Given the description of an element on the screen output the (x, y) to click on. 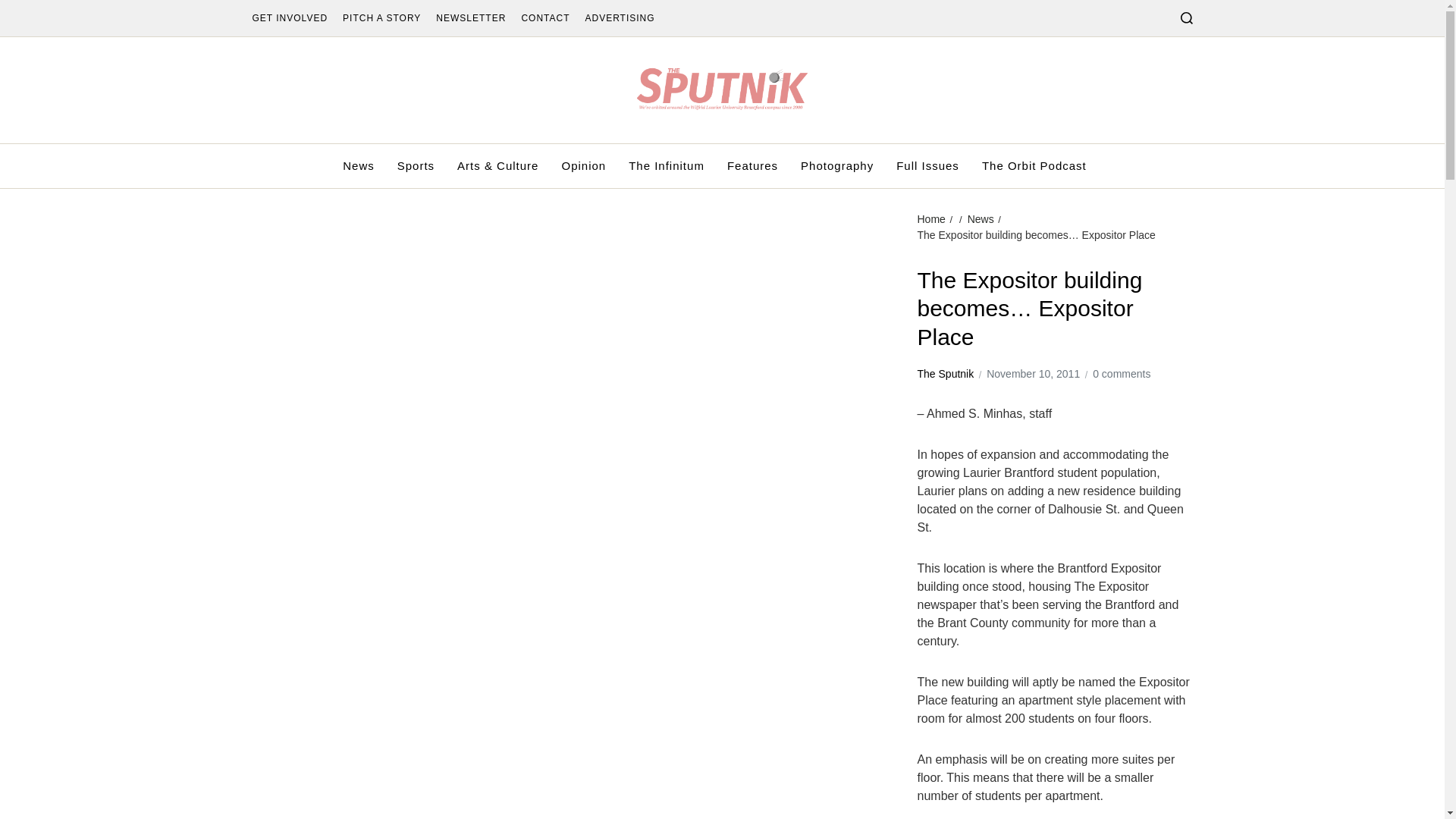
The Infinitum (666, 166)
PITCH A STORY (381, 18)
Opinion (582, 166)
GET INVOLVED (289, 18)
0 comments (1121, 374)
CONTACT (545, 18)
Photography (836, 166)
NEWSLETTER (470, 18)
The Sputnik (945, 374)
Home (930, 218)
